Given the description of an element on the screen output the (x, y) to click on. 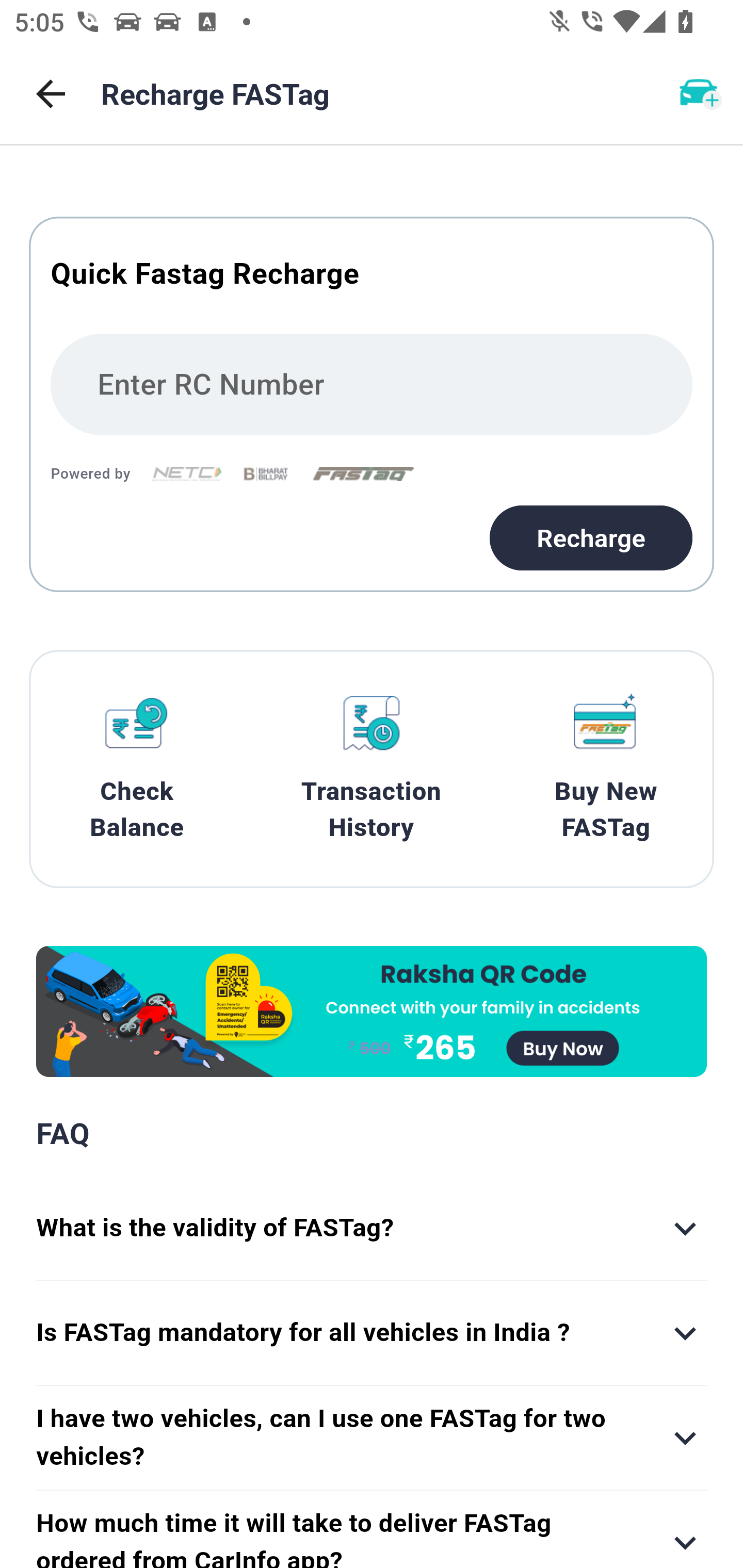
Back (50, 93)
Recharge (371, 404)
Recharge (590, 537)
Check
Balance (136, 768)
Transaction
History (371, 768)
Buy New
FASTag (605, 768)
What is the validity of FASTag? (371, 1228)
Is FASTag mandatory for all vehicles in India ? (371, 1333)
